Given the description of an element on the screen output the (x, y) to click on. 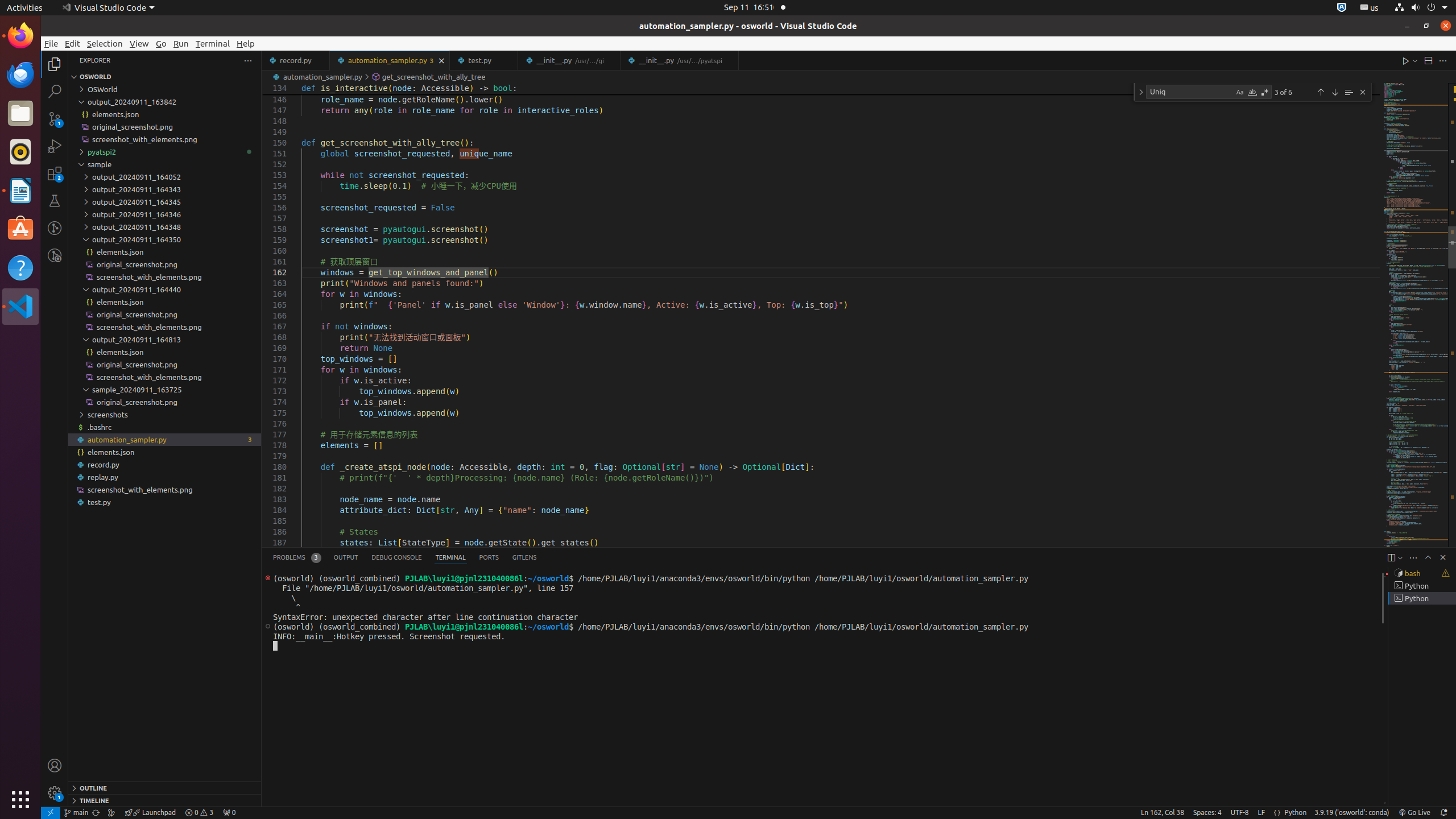
Terminal (Ctrl+`) Element type: page-tab (450, 557)
output_20240911_164350 Element type: tree-item (164, 239)
elements.json Element type: tree-item (164, 451)
